Given the description of an element on the screen output the (x, y) to click on. 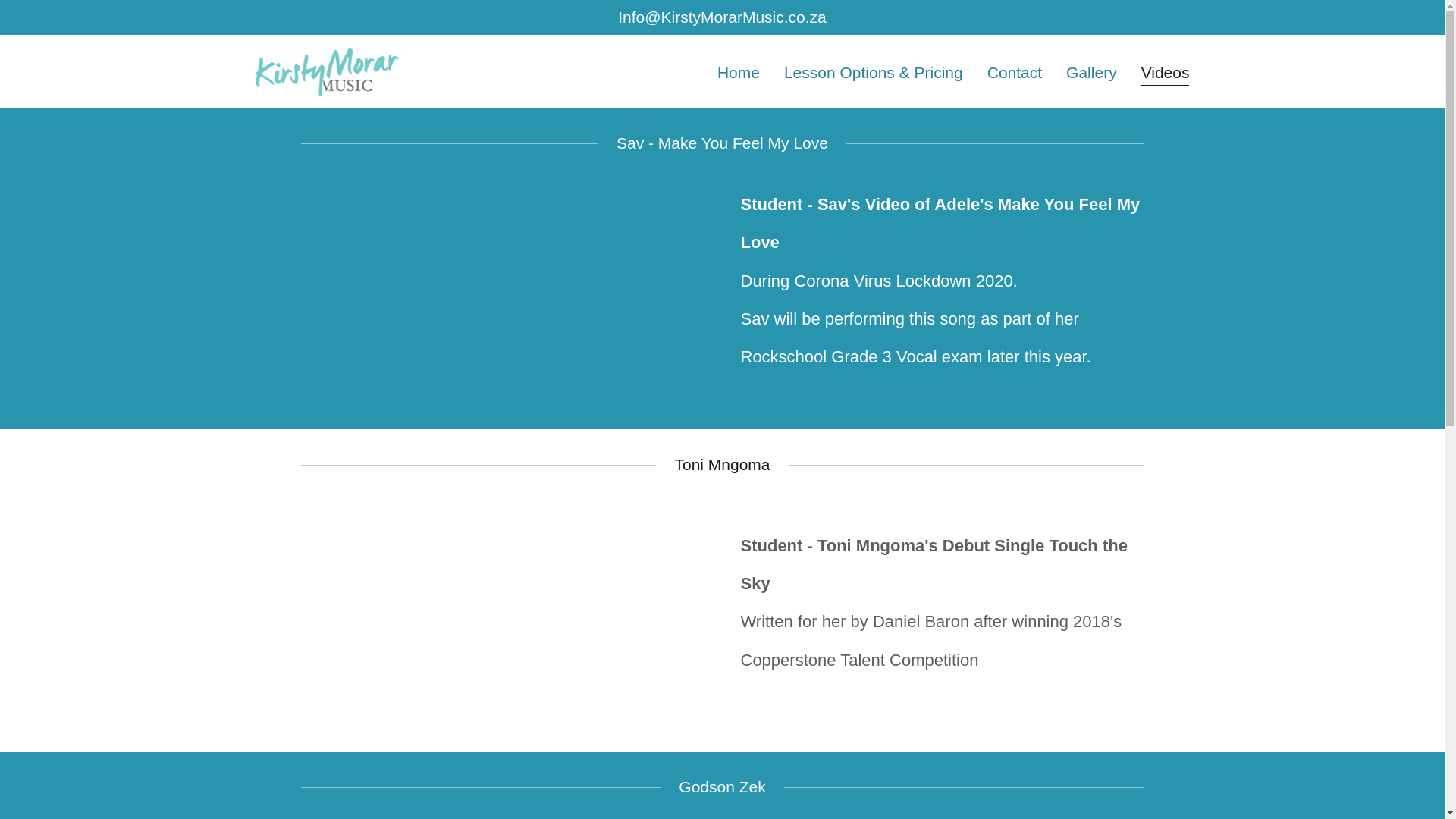
Gallery (1091, 71)
Kirsty Morar Music (325, 68)
Home (738, 71)
Videos (1165, 74)
Contact (1014, 71)
